Given the description of an element on the screen output the (x, y) to click on. 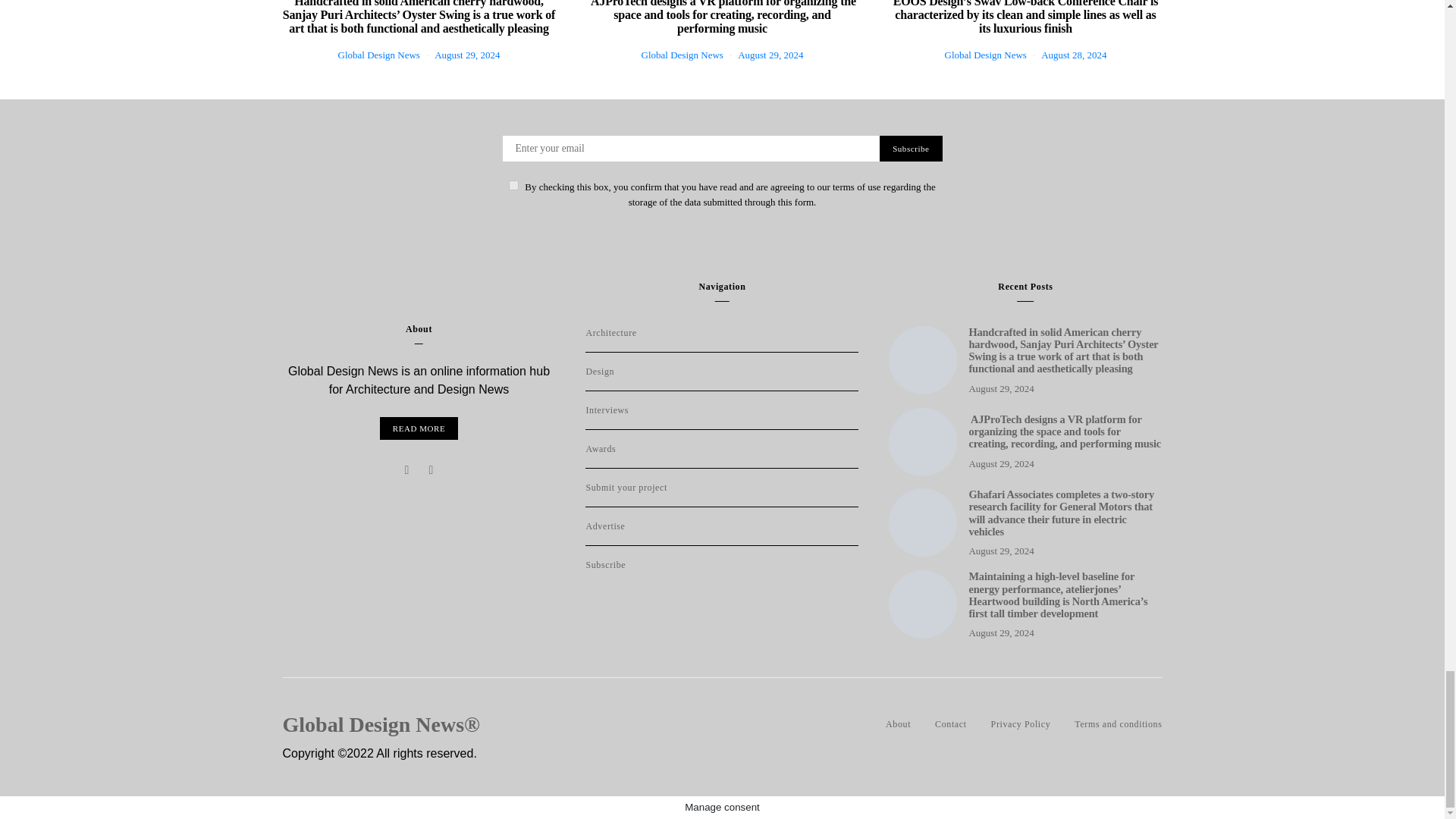
View all posts by Global Design News (378, 54)
View all posts by Global Design News (985, 54)
on (513, 185)
View all posts by Global Design News (682, 54)
